Given the description of an element on the screen output the (x, y) to click on. 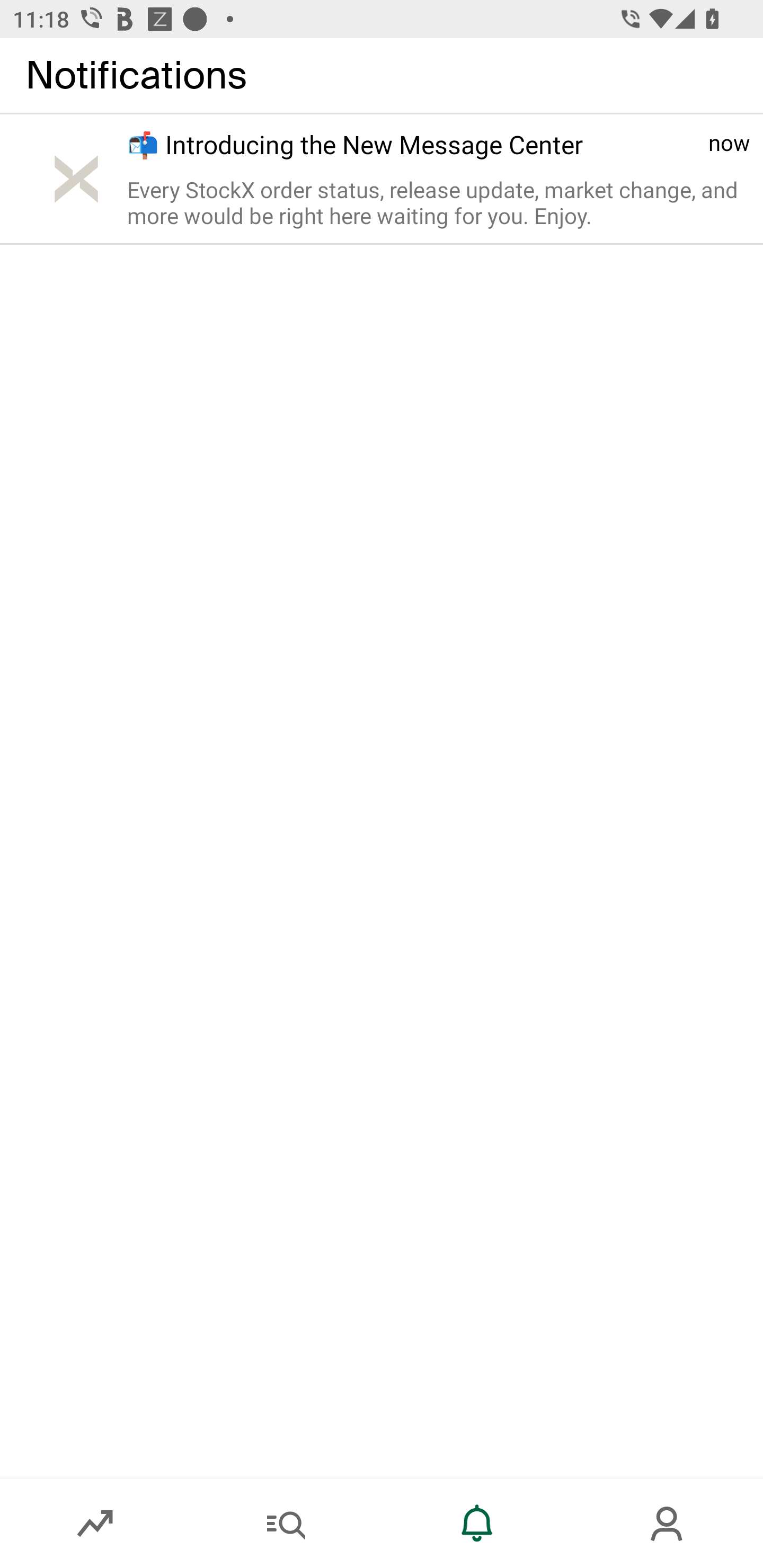
Market (95, 1523)
Search (285, 1523)
Account (667, 1523)
